Given the description of an element on the screen output the (x, y) to click on. 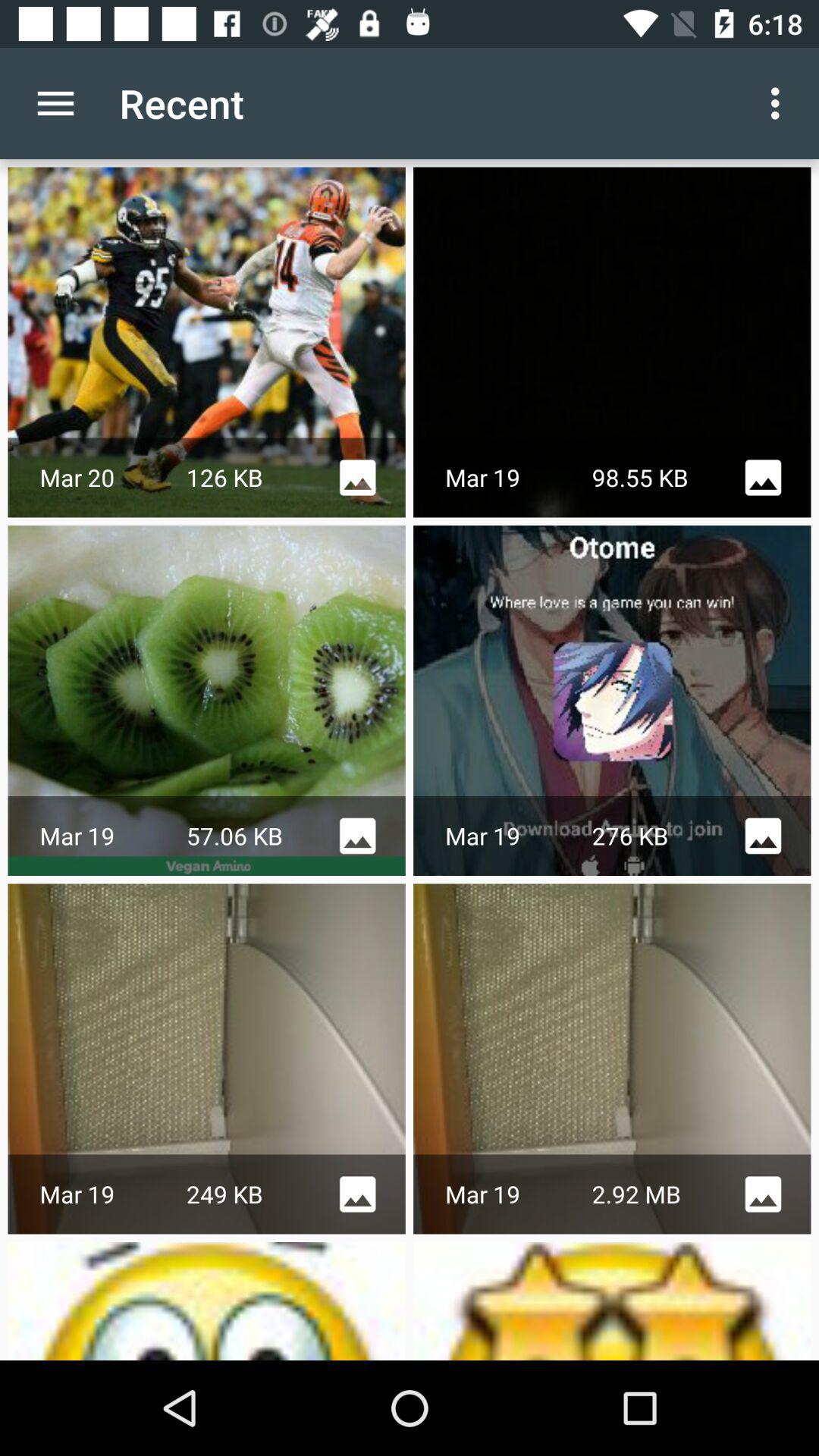
launch icon to the left of the recent (55, 103)
